Given the description of an element on the screen output the (x, y) to click on. 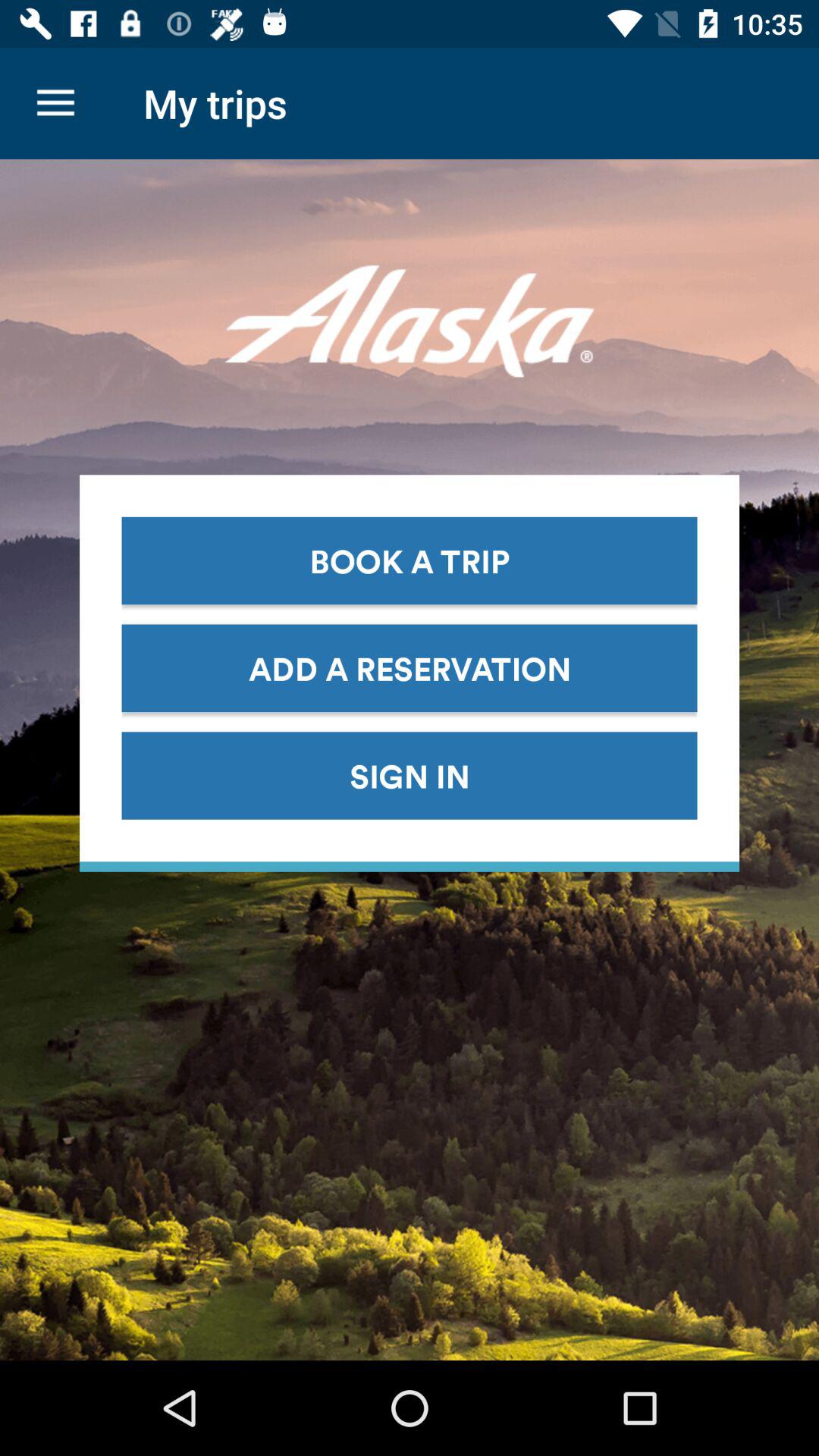
launch icon above sign in (409, 668)
